Given the description of an element on the screen output the (x, y) to click on. 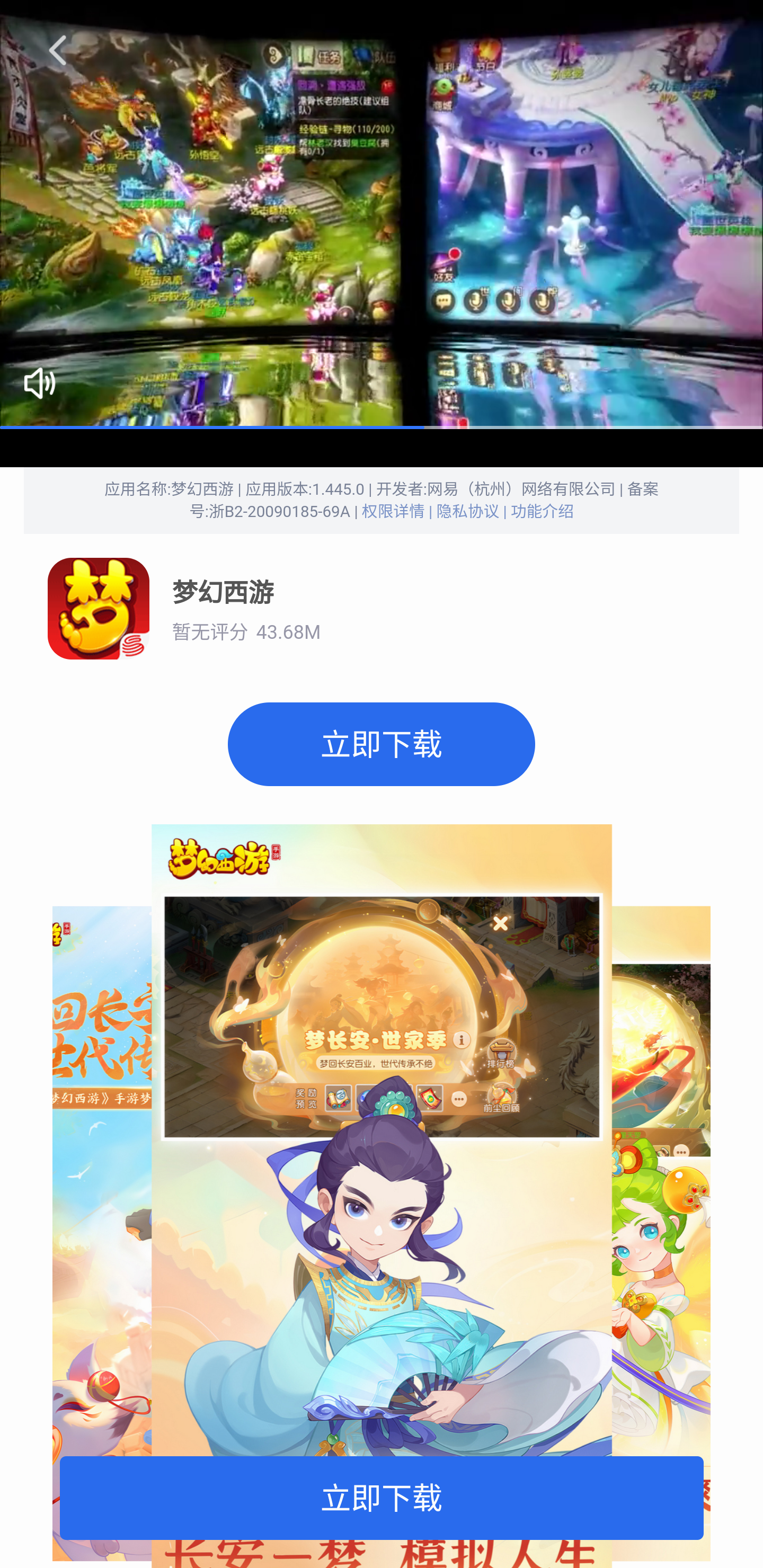
广告 16677.0 (381, 214)
立即下载 (381, 743)
立即下载 (381, 1497)
